Given the description of an element on the screen output the (x, y) to click on. 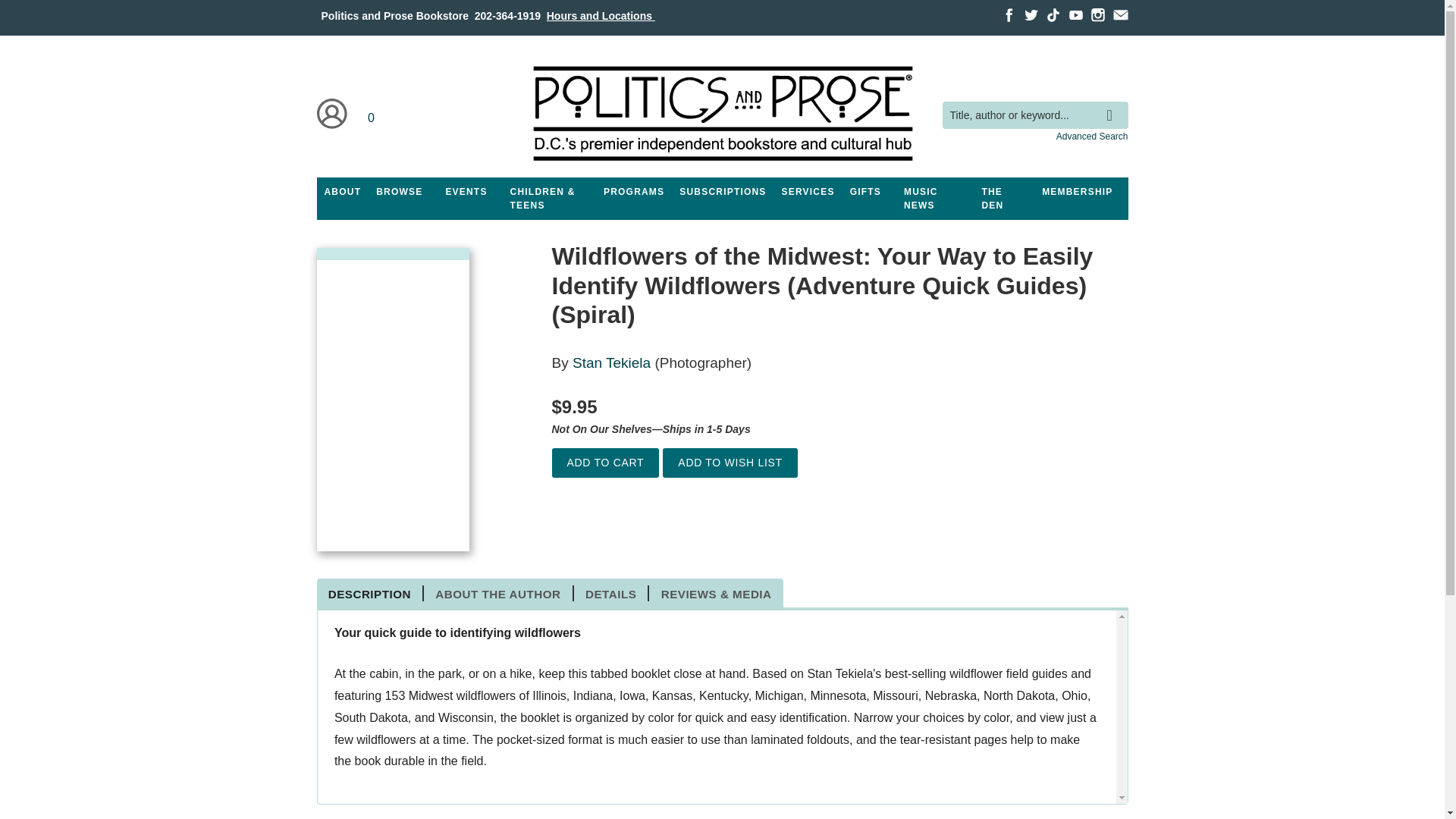
SERVICES (808, 191)
Advanced Search (1092, 136)
SUBSCRIPTIONS (722, 191)
ABOUT (343, 191)
Browse our shelves (398, 191)
search (1112, 103)
Hours and Locations  (601, 15)
Add to Wish List (729, 462)
Title, author or keyword... (1034, 115)
